Given the description of an element on the screen output the (x, y) to click on. 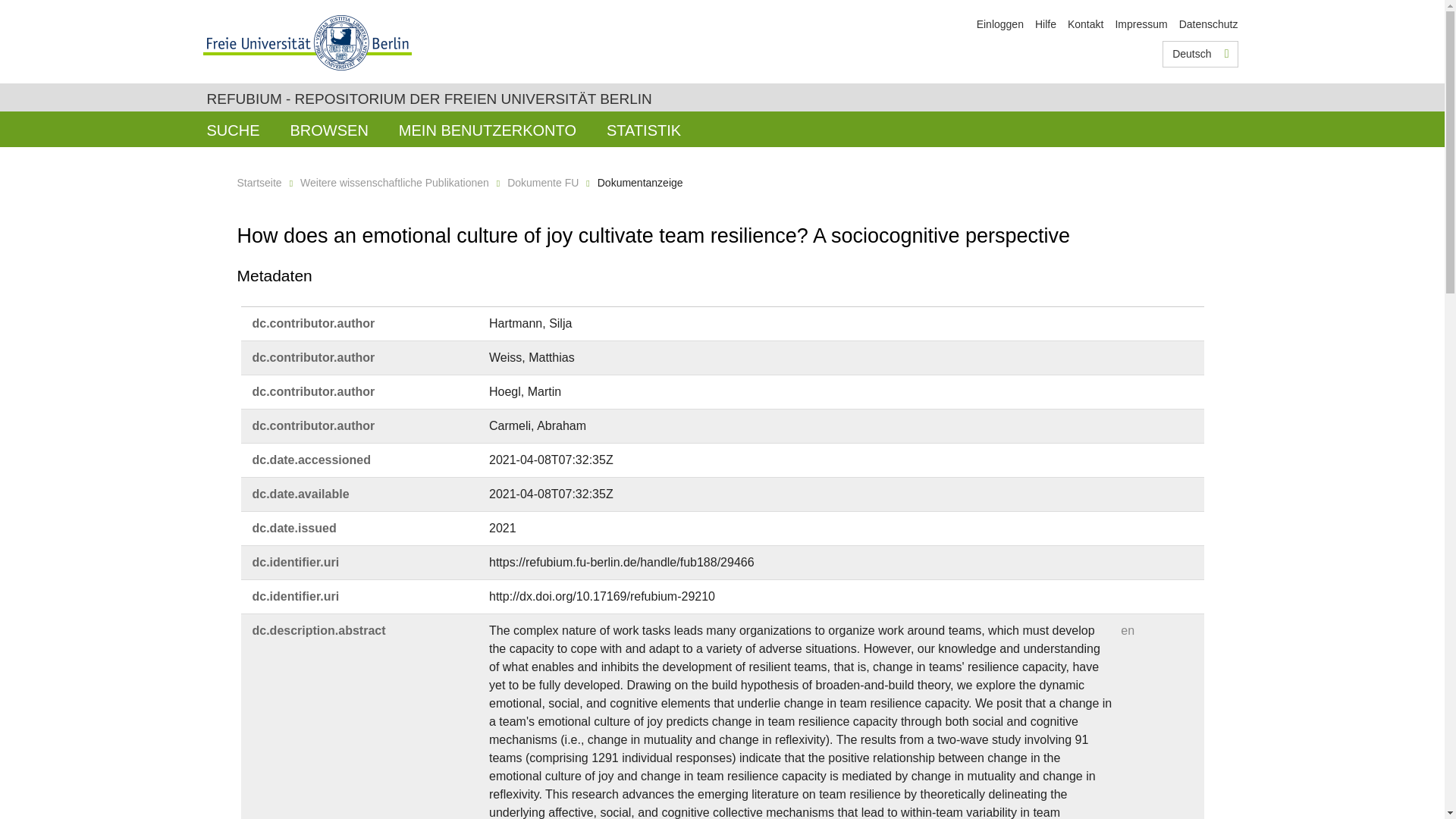
Hilfe (1046, 24)
Datenschutz (1209, 24)
Kontakt (1085, 24)
Impressum (1141, 24)
MEIN BENUTZERKONTO (487, 129)
Startseite (258, 182)
Weitere wissenschaftliche Publikationen (394, 182)
BROWSEN (329, 129)
Dokumente FU (542, 182)
Einloggen (999, 24)
SUCHE (232, 129)
Zur Startseite von: Refubium (428, 98)
STATISTIK (643, 129)
